Given the description of an element on the screen output the (x, y) to click on. 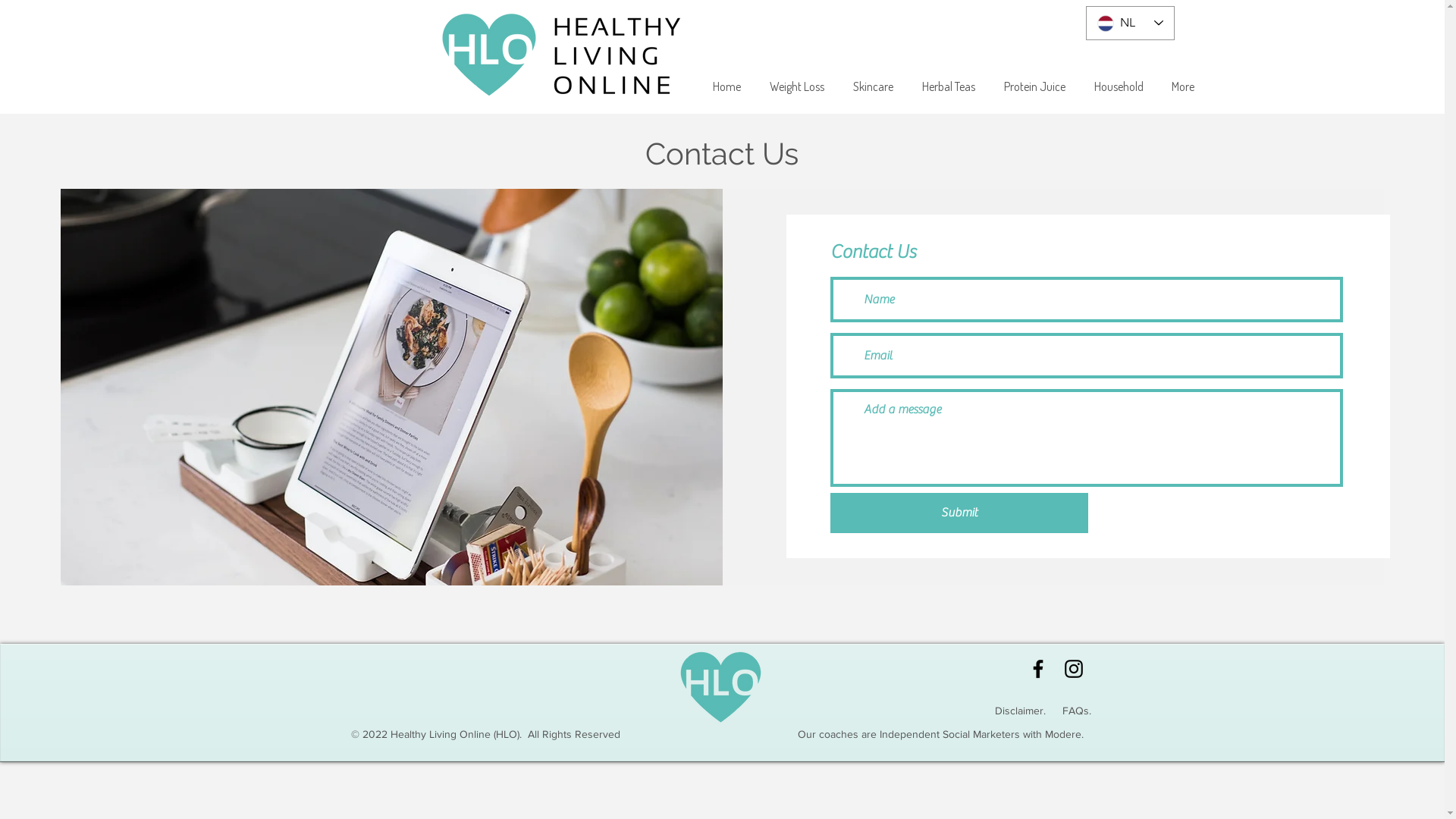
Skincare Element type: text (872, 86)
Protein Juice Element type: text (1034, 86)
FAQs. Element type: text (1075, 710)
Home Element type: text (726, 86)
Submit Element type: text (958, 512)
Household Element type: text (1118, 86)
Weight Loss Element type: text (796, 86)
Herbal Teas Element type: text (948, 86)
Disclaimer. Element type: text (1019, 710)
